Given the description of an element on the screen output the (x, y) to click on. 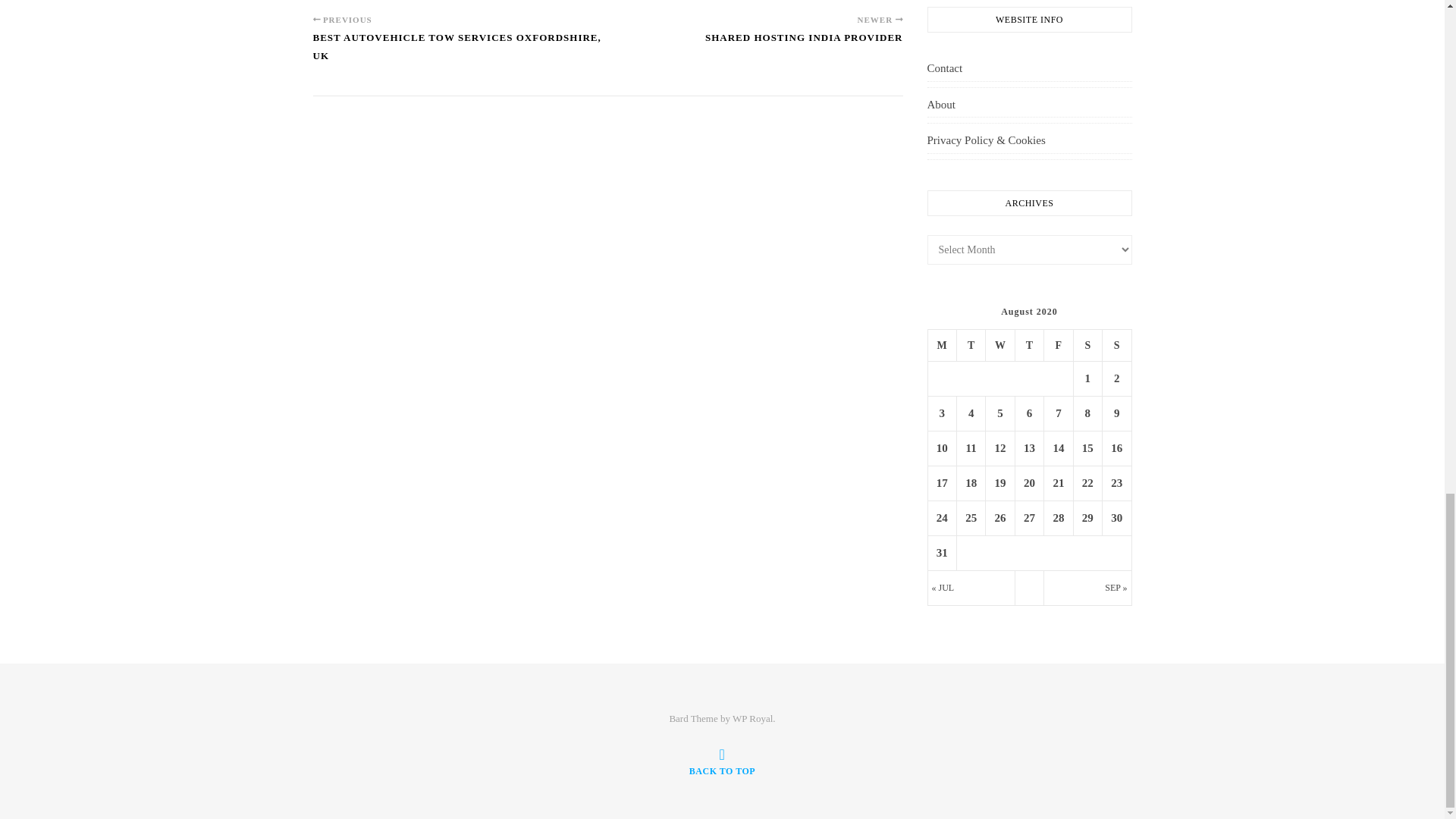
Thursday (1028, 345)
Wednesday (999, 345)
SHARED HOSTING INDIA PROVIDER (803, 44)
Monday (941, 345)
Saturday (1087, 345)
Friday (1058, 345)
Tuesday (970, 345)
BACK TO TOP (722, 761)
Sunday (1116, 345)
Best autovehicle tow services Oxfordshire, UK (460, 53)
